Given the description of an element on the screen output the (x, y) to click on. 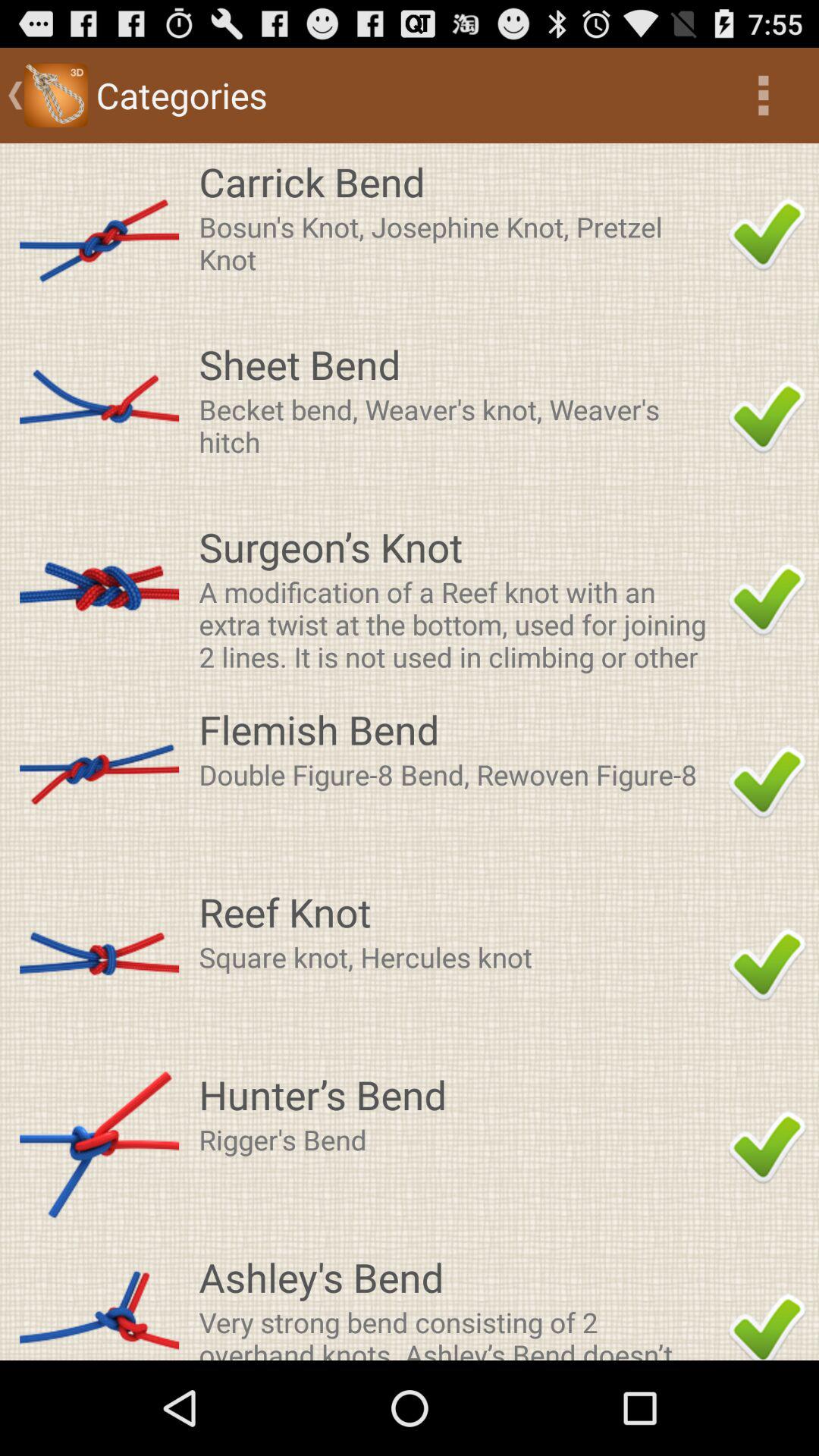
launch icon to the right of the categories item (763, 95)
